Given the description of an element on the screen output the (x, y) to click on. 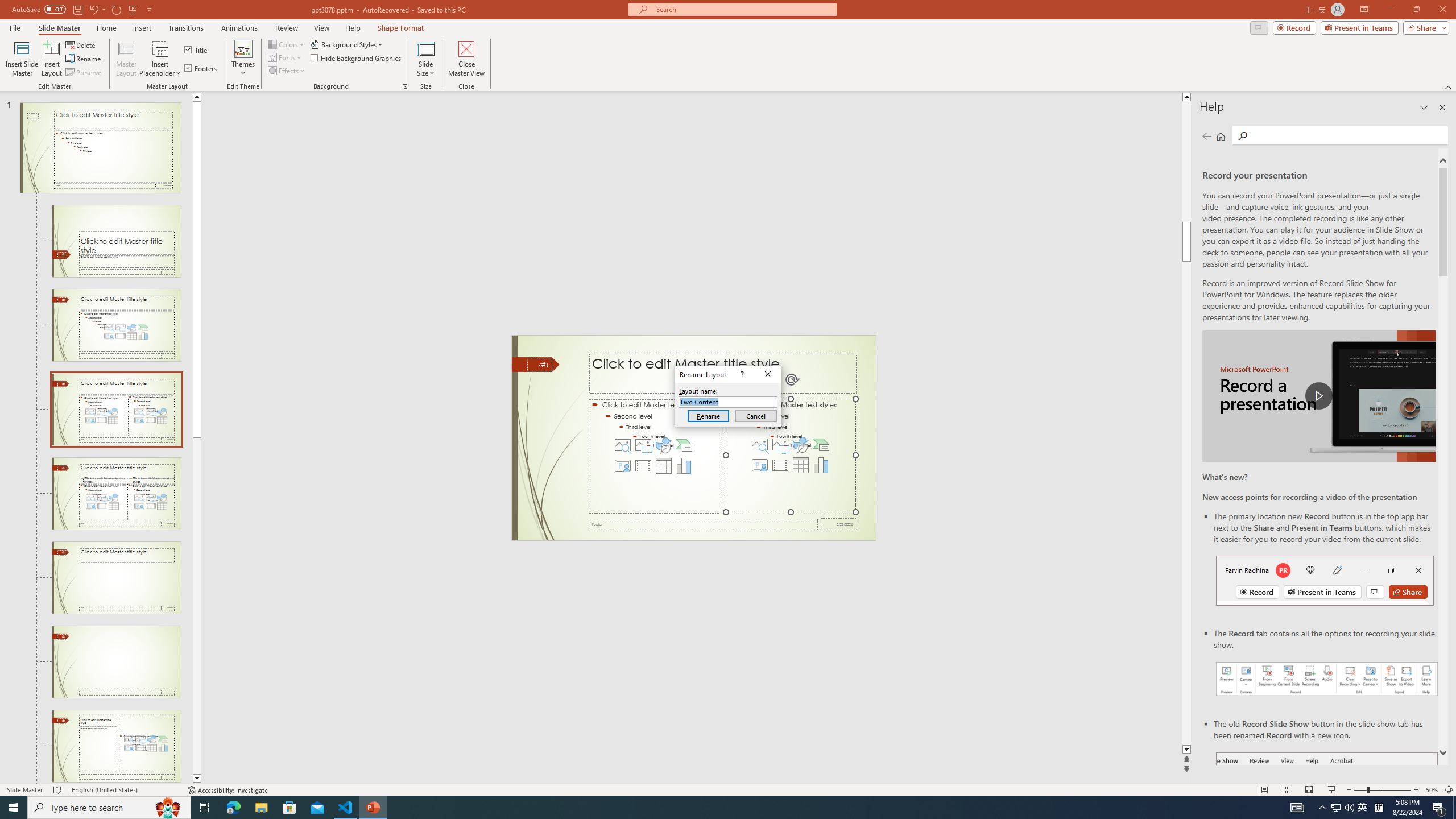
Colors (287, 44)
Themes (243, 58)
Content (160, 48)
play Record a Presentation (1318, 395)
Freeform 11 (535, 364)
Footer (703, 524)
